Given the description of an element on the screen output the (x, y) to click on. 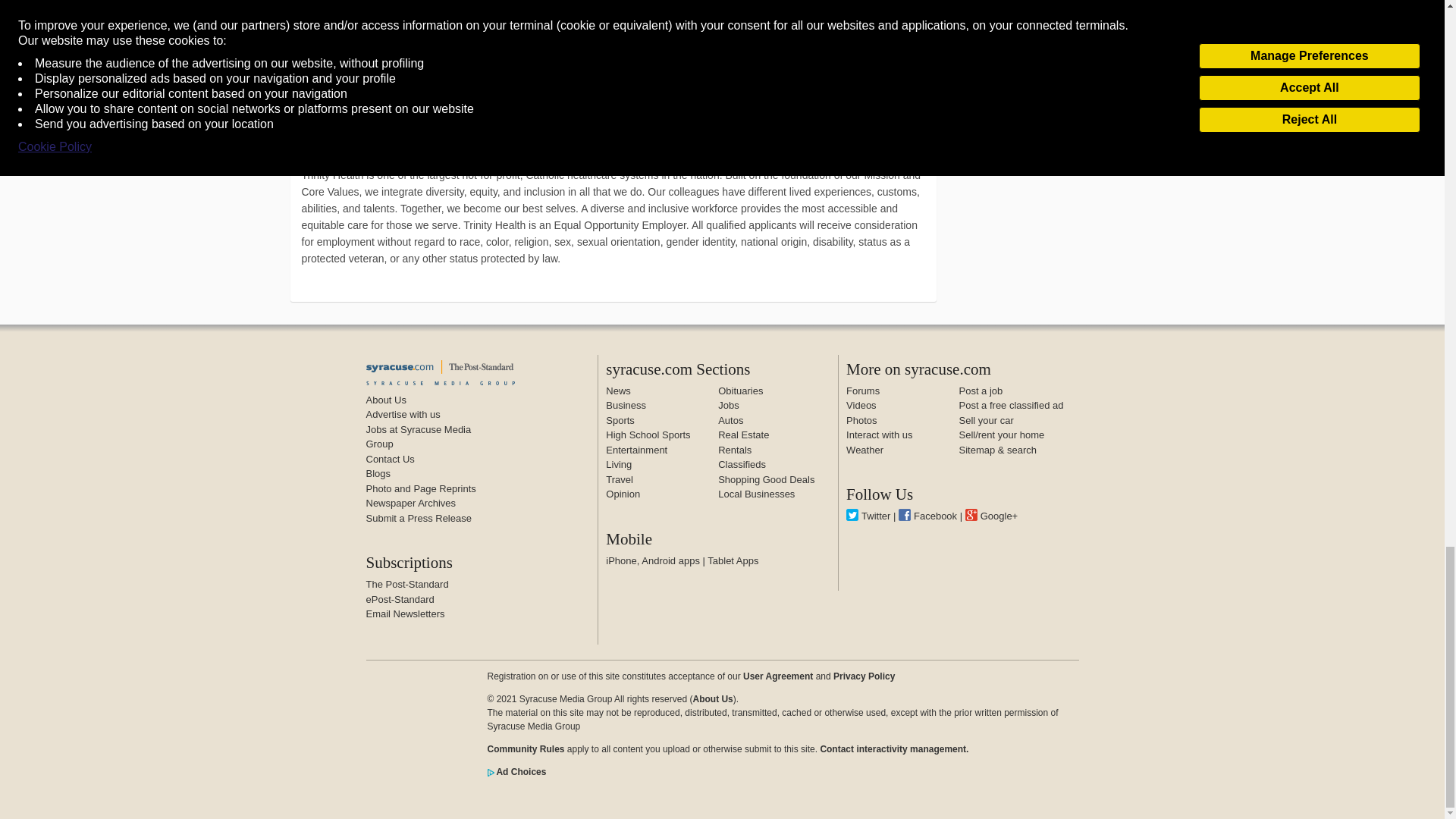
User Agreement (777, 675)
Contact Us (389, 459)
Privacy Policy (863, 675)
Community Rules (525, 748)
Contact Interactivity Management (893, 748)
